Given the description of an element on the screen output the (x, y) to click on. 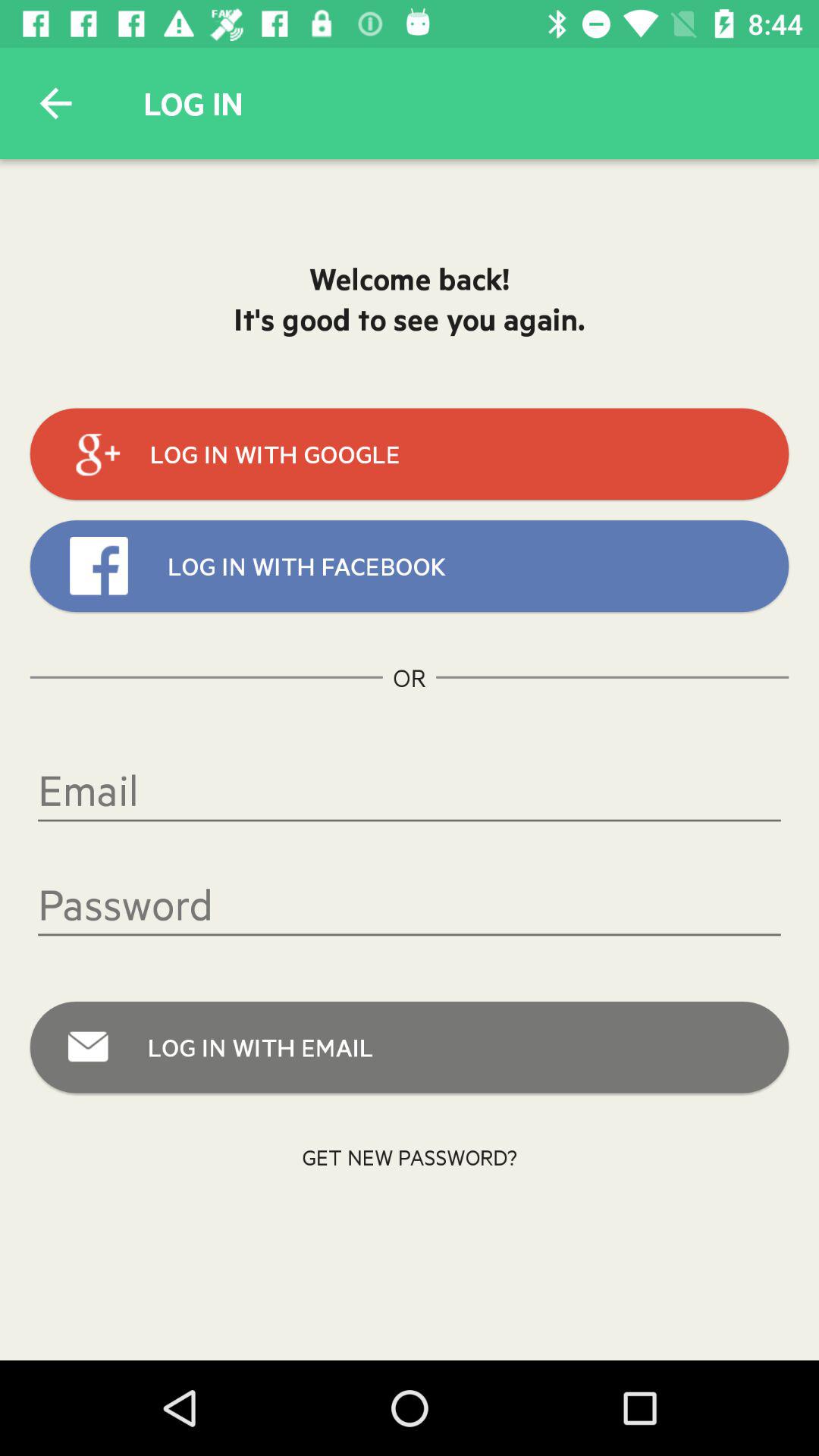
choose icon to the left of log in (55, 103)
